Given the description of an element on the screen output the (x, y) to click on. 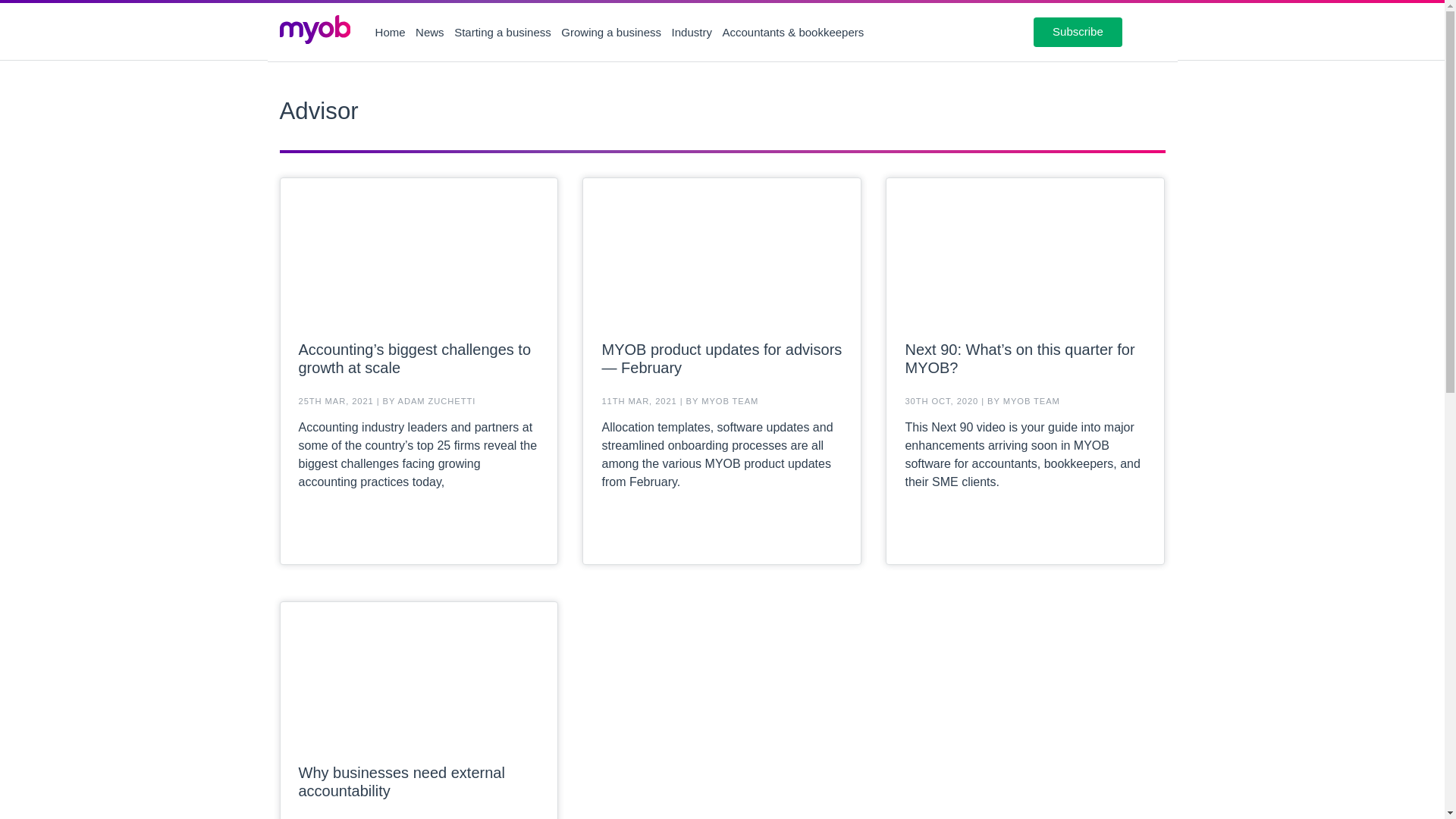
Subscribe (1077, 31)
MYOB Home (314, 32)
Starting a business (502, 31)
MYOB Home (314, 32)
Growing a business (610, 31)
Home (390, 31)
Industry (691, 31)
News (429, 31)
MYOB Home (314, 29)
